Given the description of an element on the screen output the (x, y) to click on. 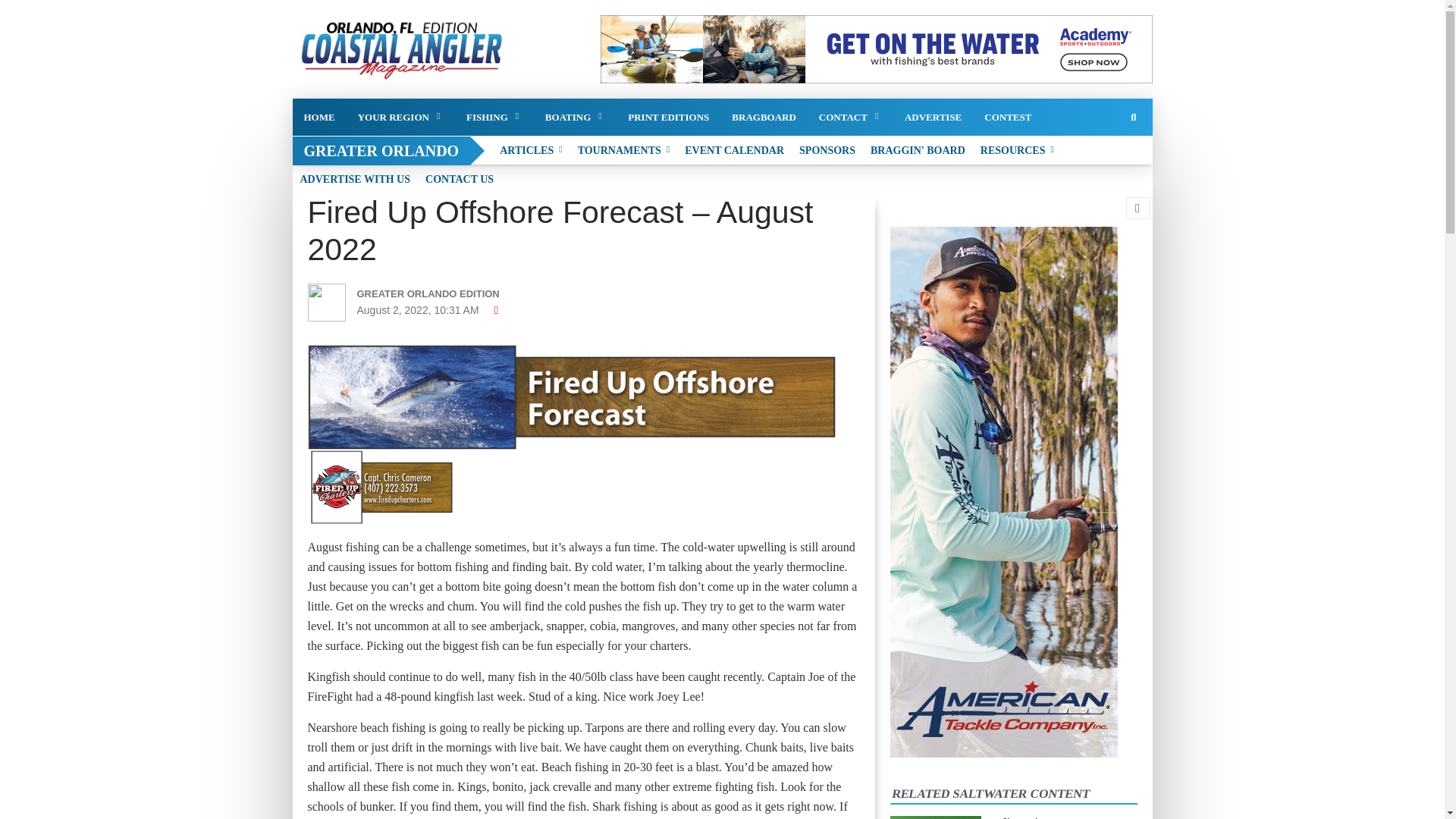
Views (497, 309)
View all posts by Greater Orlando Edition (442, 293)
